Given the description of an element on the screen output the (x, y) to click on. 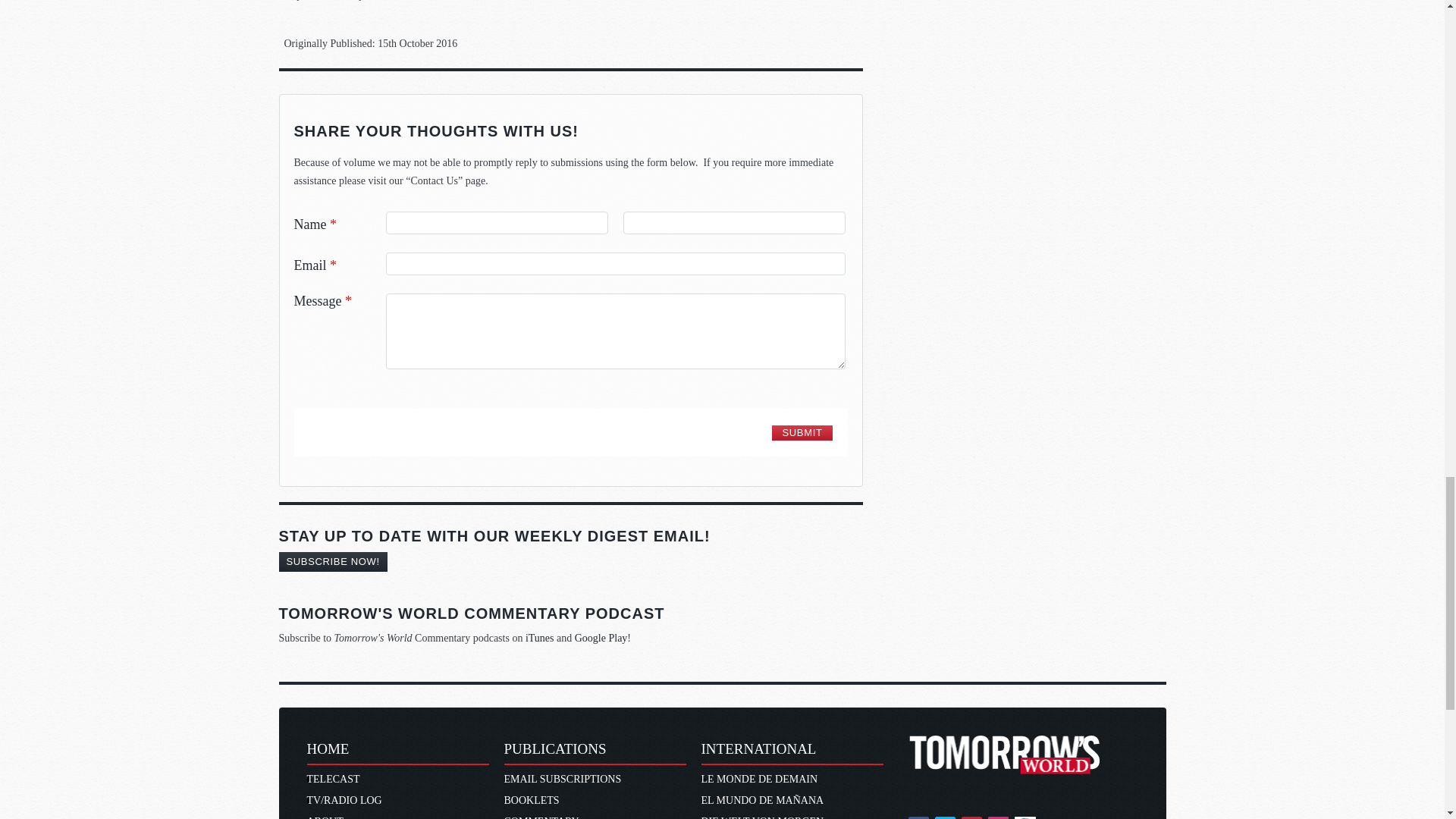
Submit (801, 432)
Submit (801, 432)
Google Play (601, 637)
iTunes (539, 637)
SUBSCRIBE NOW! (333, 561)
